Given the description of an element on the screen output the (x, y) to click on. 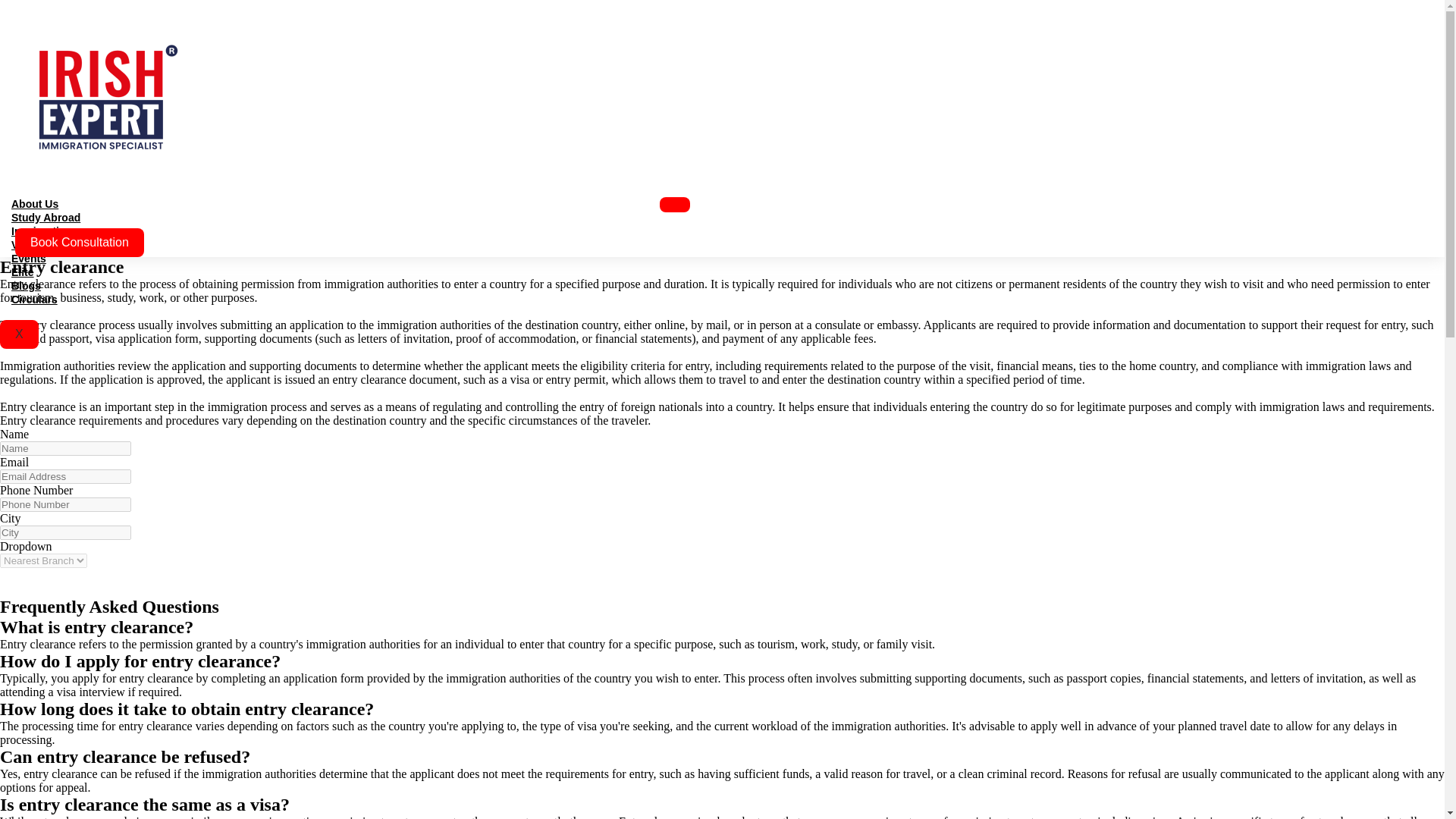
Elite (22, 272)
Book Consultation (79, 242)
Study Abroad (45, 217)
Visa Services (45, 244)
X (19, 334)
Circulars (34, 299)
Events (29, 258)
Immigration (41, 231)
Register Now (51, 582)
Blogs (26, 285)
About Us (34, 203)
